Given the description of an element on the screen output the (x, y) to click on. 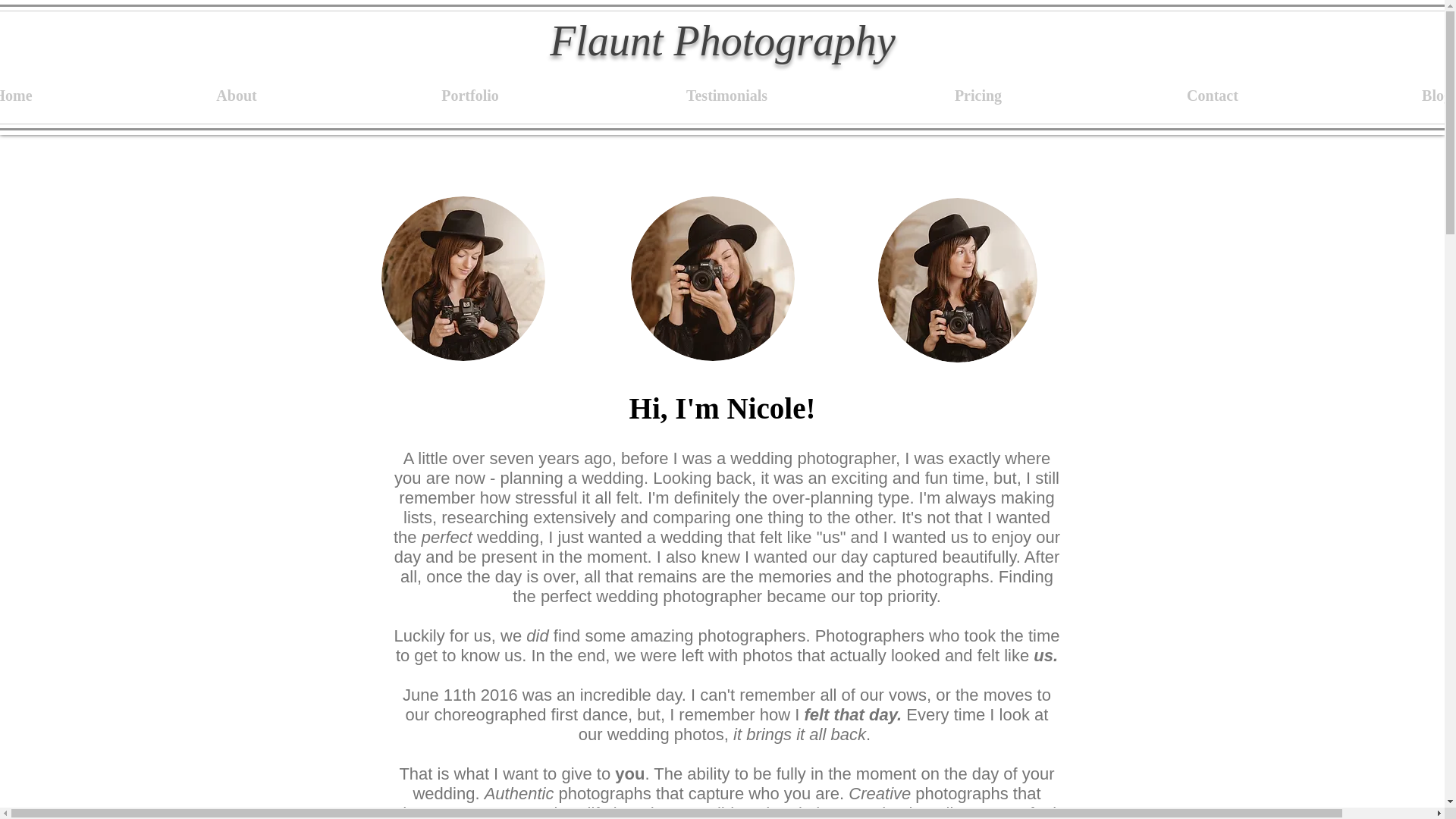
About (235, 95)
Home (62, 95)
Portfolio (470, 95)
guy2.jpg (462, 278)
Blog (1393, 95)
Flaunt Photography (722, 40)
Contact (1212, 95)
guy3.jpg (956, 280)
Pricing (977, 95)
guy4.jpg (712, 278)
Testimonials (726, 95)
